Given the description of an element on the screen output the (x, y) to click on. 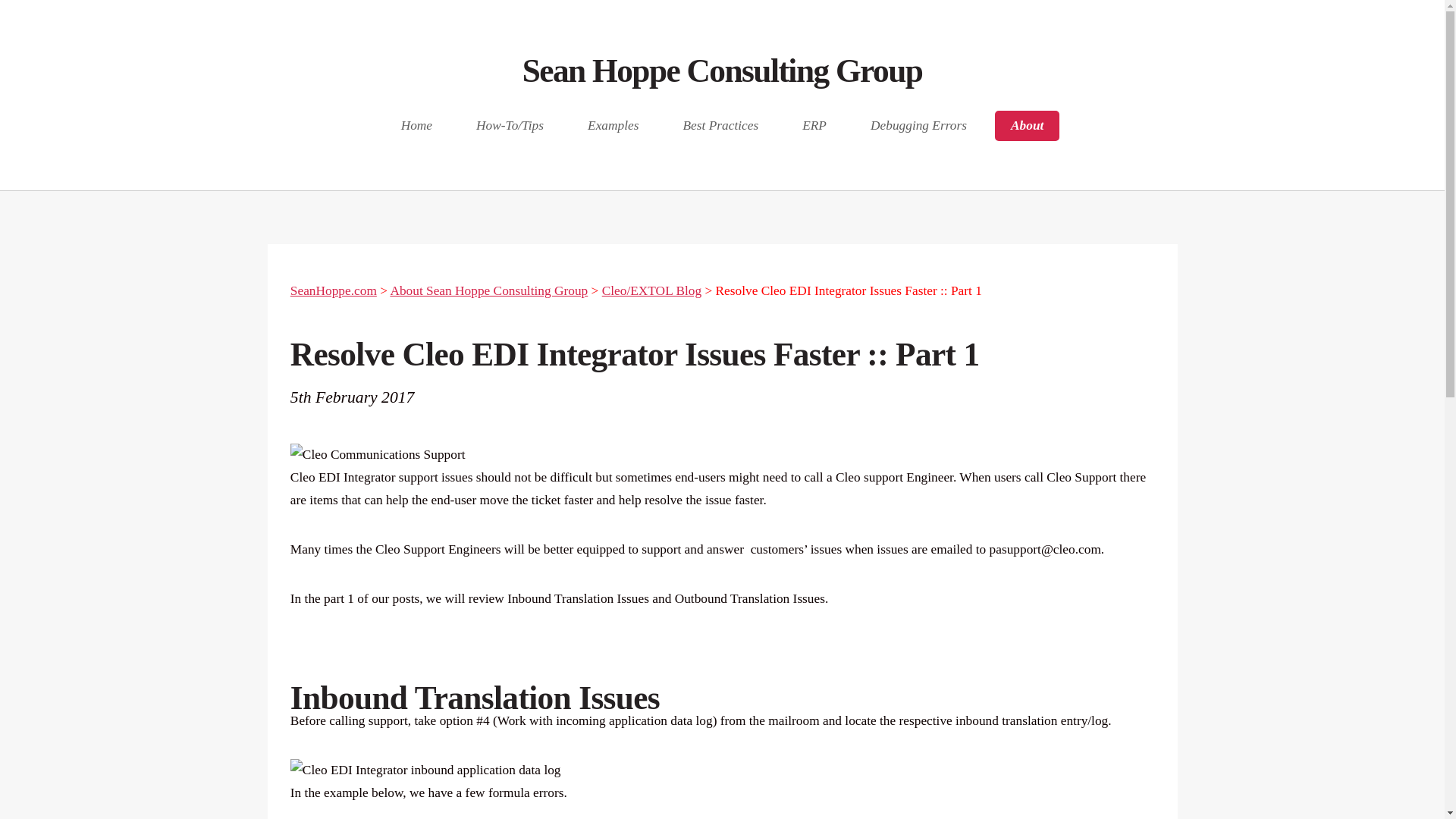
Examples (612, 125)
Best Practices (720, 125)
Sean Hoppe Consulting Group (722, 70)
Home (416, 125)
About (1026, 125)
Debugging Errors (918, 125)
ERP (813, 125)
